Given the description of an element on the screen output the (x, y) to click on. 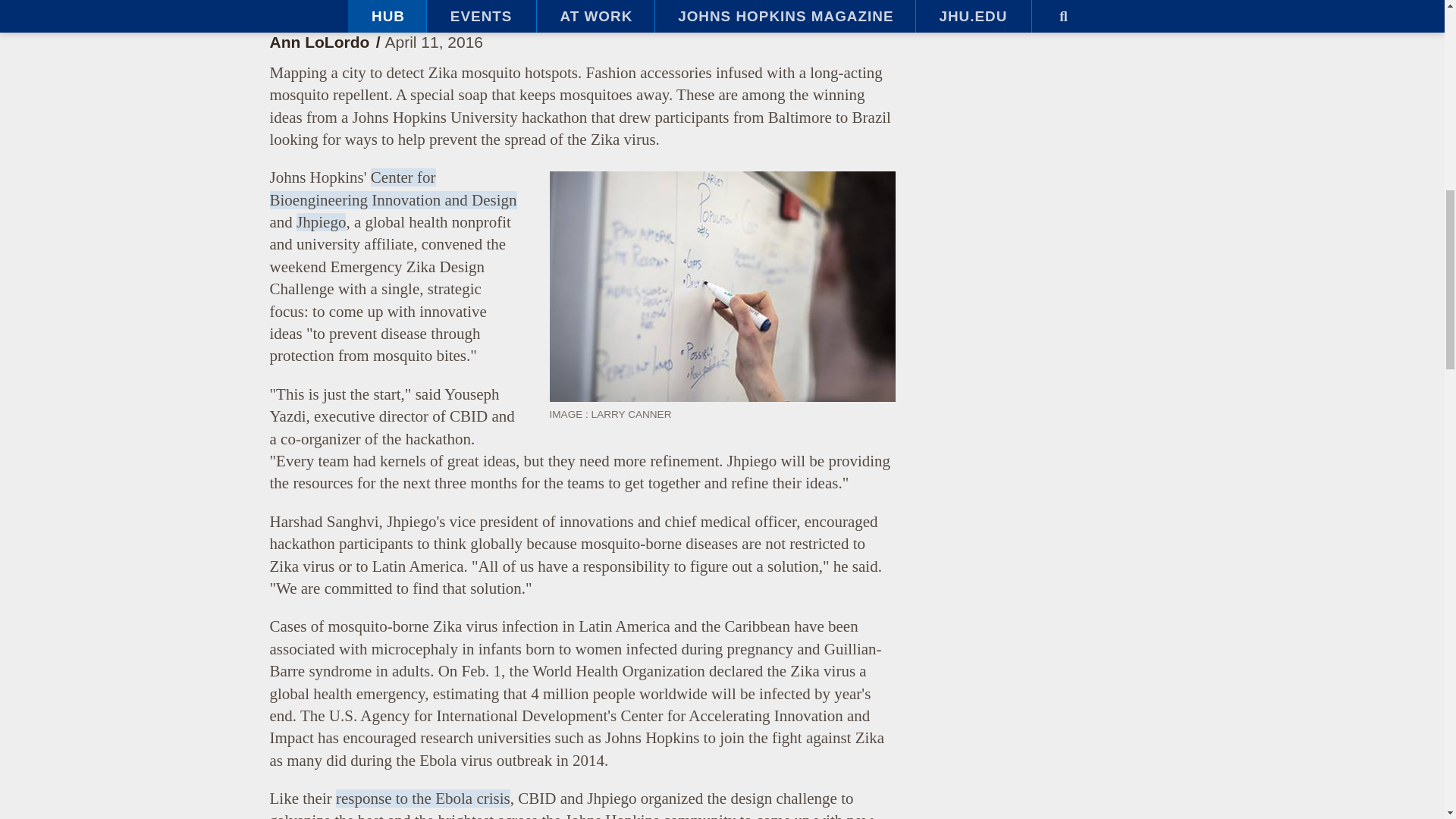
Center for Bioengineering Innovation and Design (392, 188)
